Given the description of an element on the screen output the (x, y) to click on. 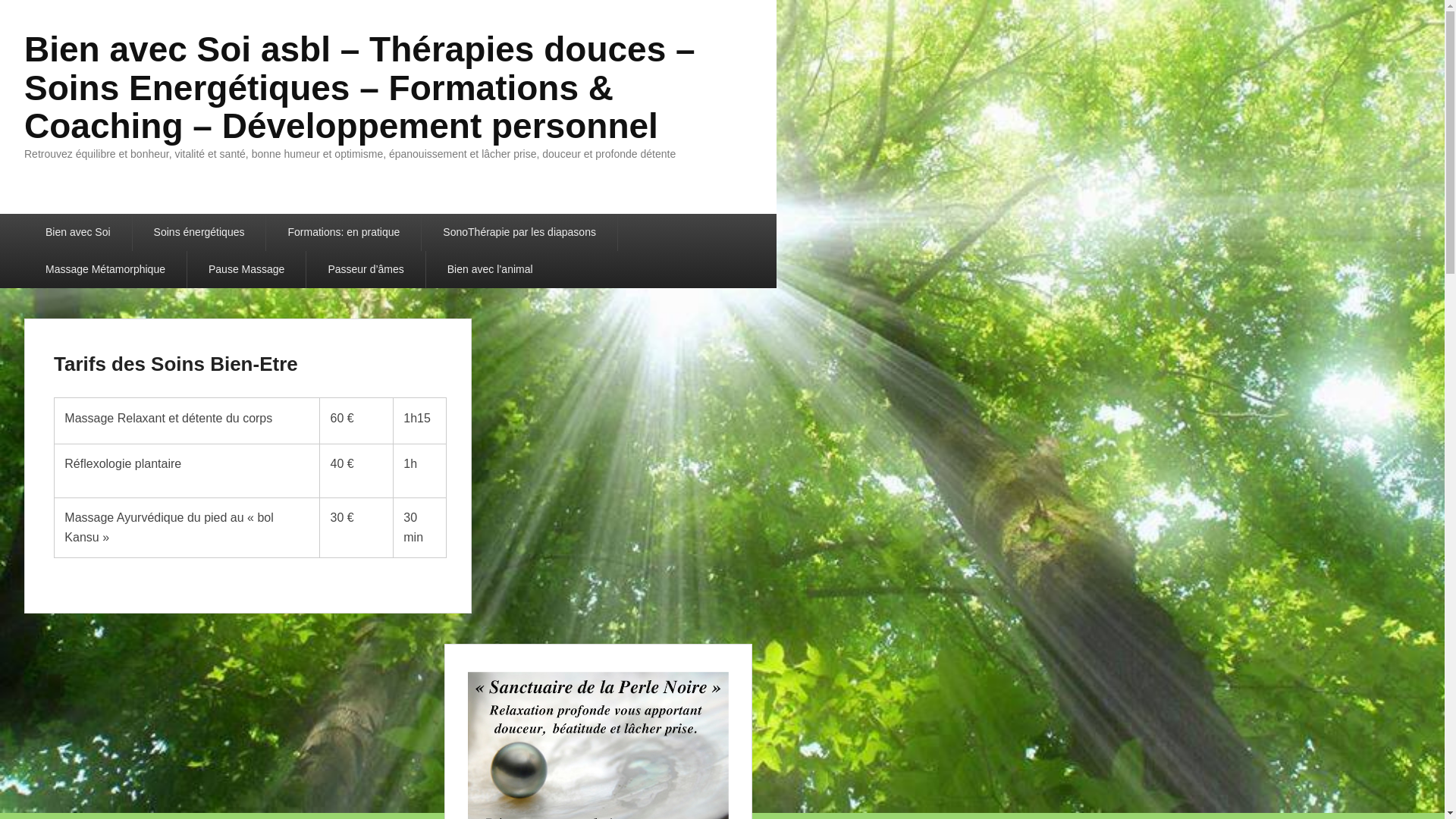
Formations: en pratique Element type: text (343, 232)
Tarifs des Soins Bien-Etre Element type: text (175, 363)
Bien avec Soi Element type: text (77, 232)
Pause Massage Element type: text (246, 269)
